Given the description of an element on the screen output the (x, y) to click on. 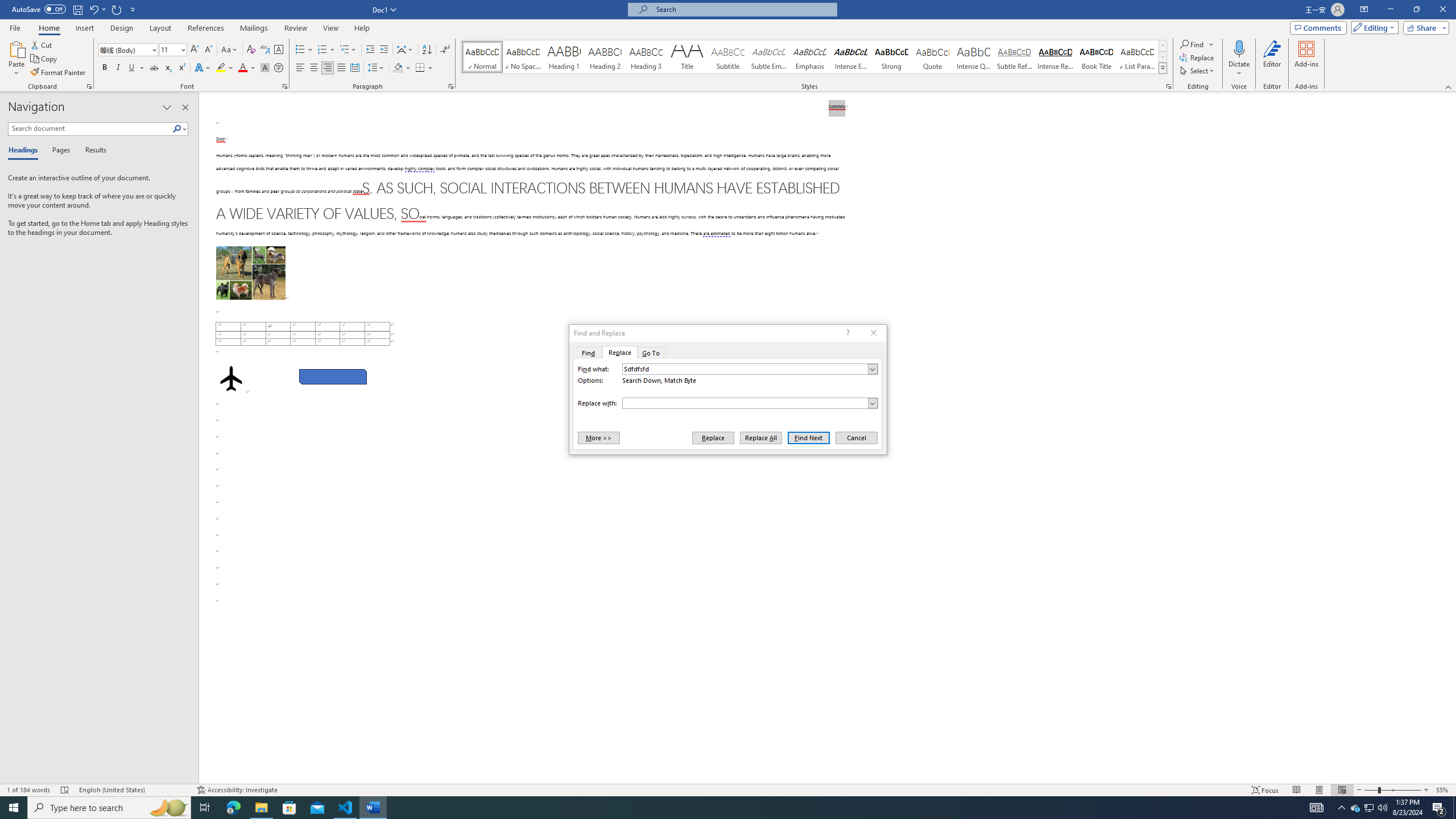
Intense Quote (973, 56)
Change Case (229, 49)
Asian Layout (405, 49)
Undo Paragraph Alignment (92, 9)
Headings (25, 150)
Format Painter (58, 72)
Select (1197, 69)
Design (122, 28)
Airplane with solid fill (230, 378)
Find (1192, 44)
Class: MsoCommandBar (728, 789)
AutoSave (38, 9)
Font Color (246, 67)
Microsoft search (742, 9)
References (205, 28)
